Given the description of an element on the screen output the (x, y) to click on. 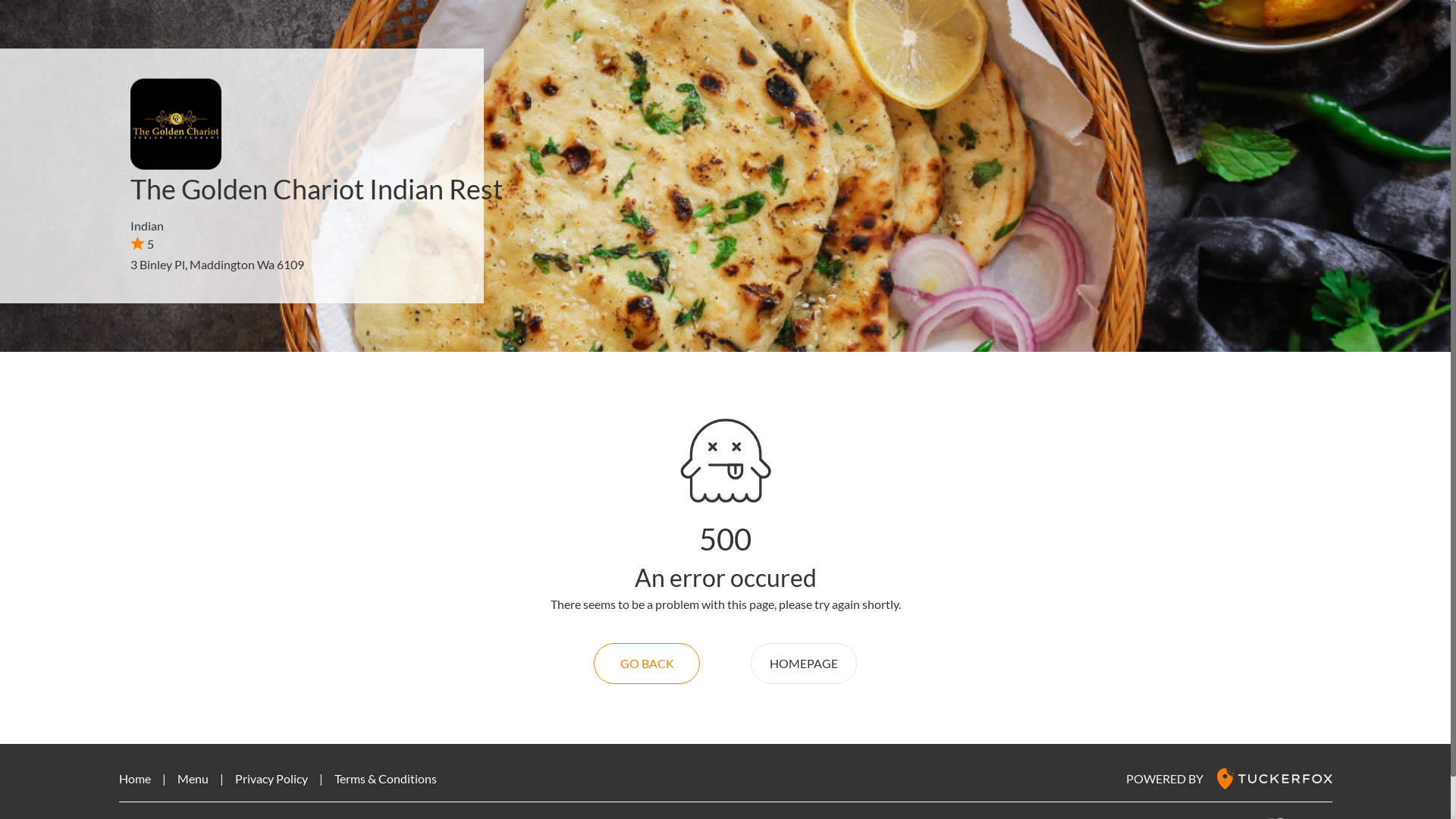
Terms & Conditions Element type: text (384, 778)
Privacy Policy Element type: text (271, 778)
HOMEPAGE Element type: text (803, 663)
Menu Element type: text (192, 778)
The Golden Chariot Indian Rest Element type: text (316, 188)
Home Element type: text (134, 778)
5 Element type: text (141, 243)
GO BACK Element type: text (646, 663)
